Given the description of an element on the screen output the (x, y) to click on. 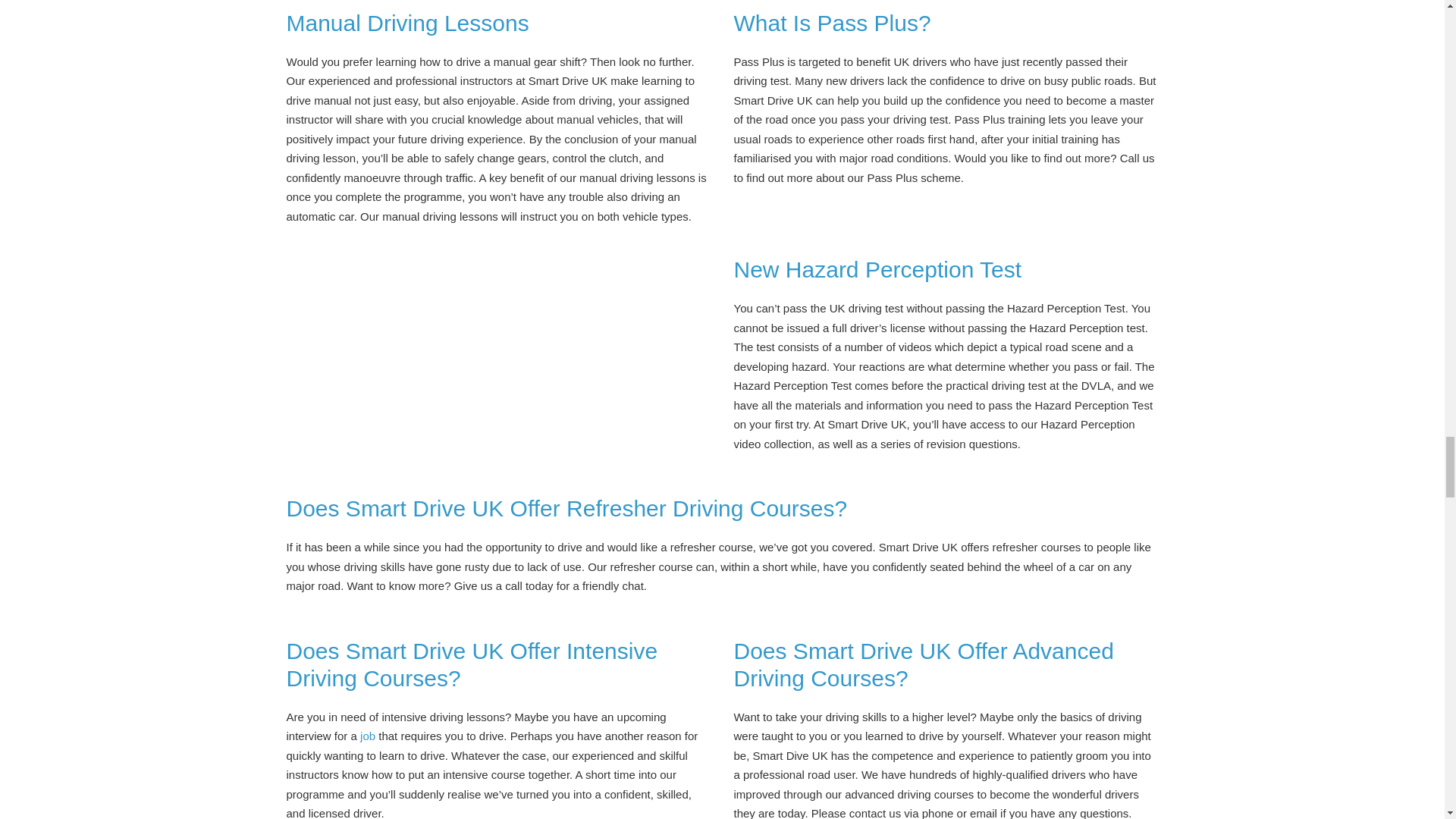
job (367, 735)
